Given the description of an element on the screen output the (x, y) to click on. 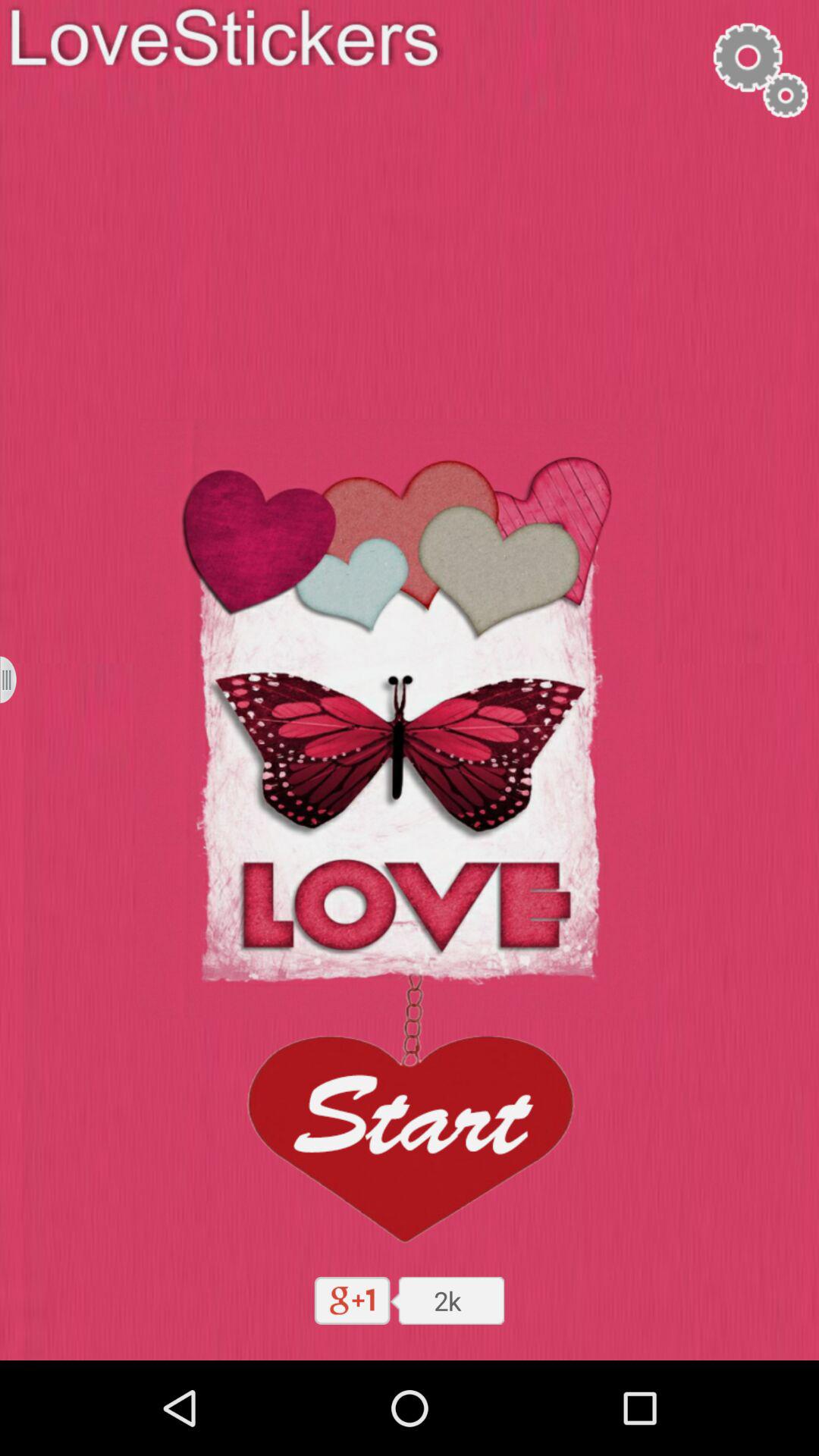
start (409, 1113)
